Given the description of an element on the screen output the (x, y) to click on. 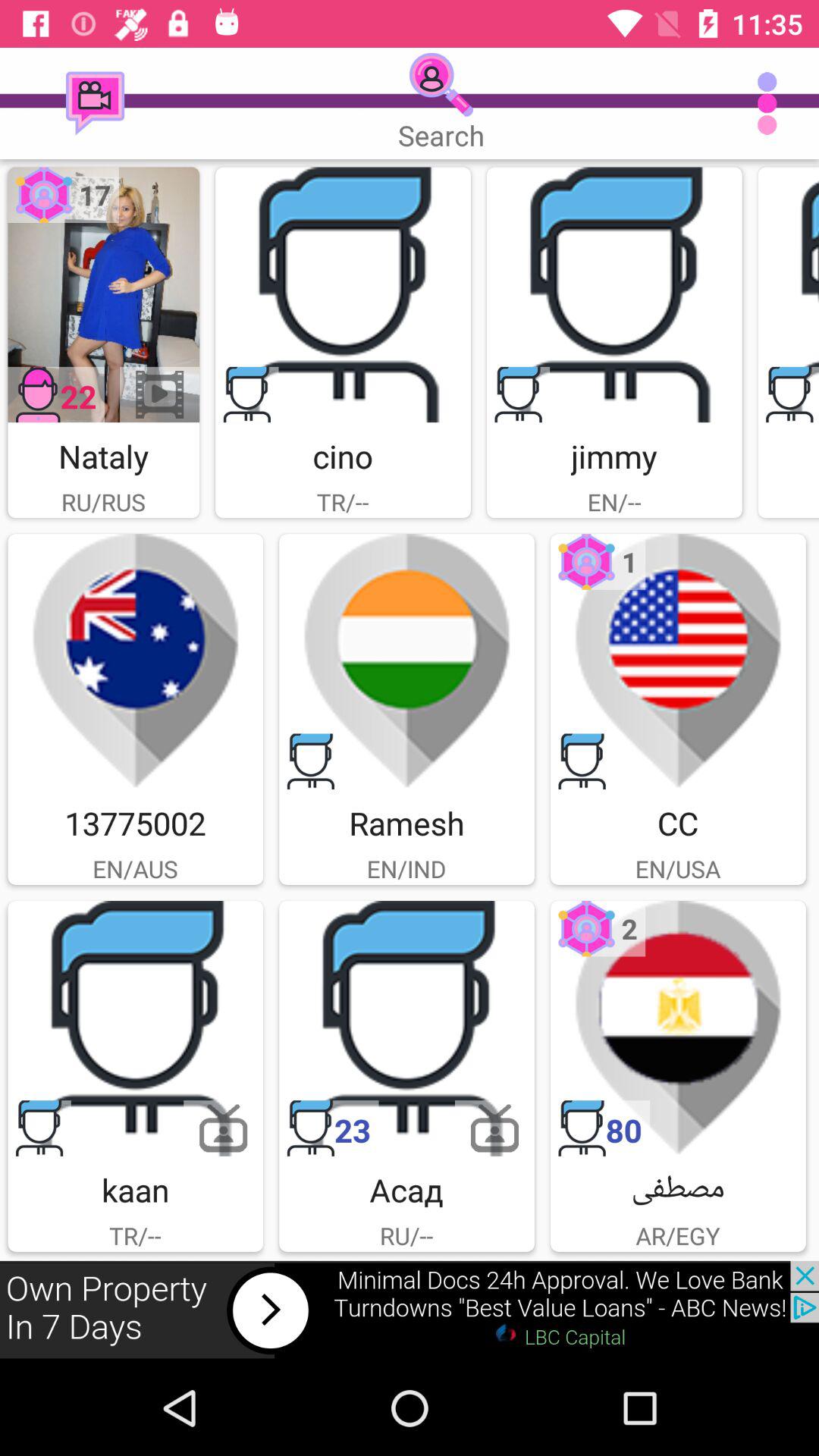
profile picture (788, 294)
